Given the description of an element on the screen output the (x, y) to click on. 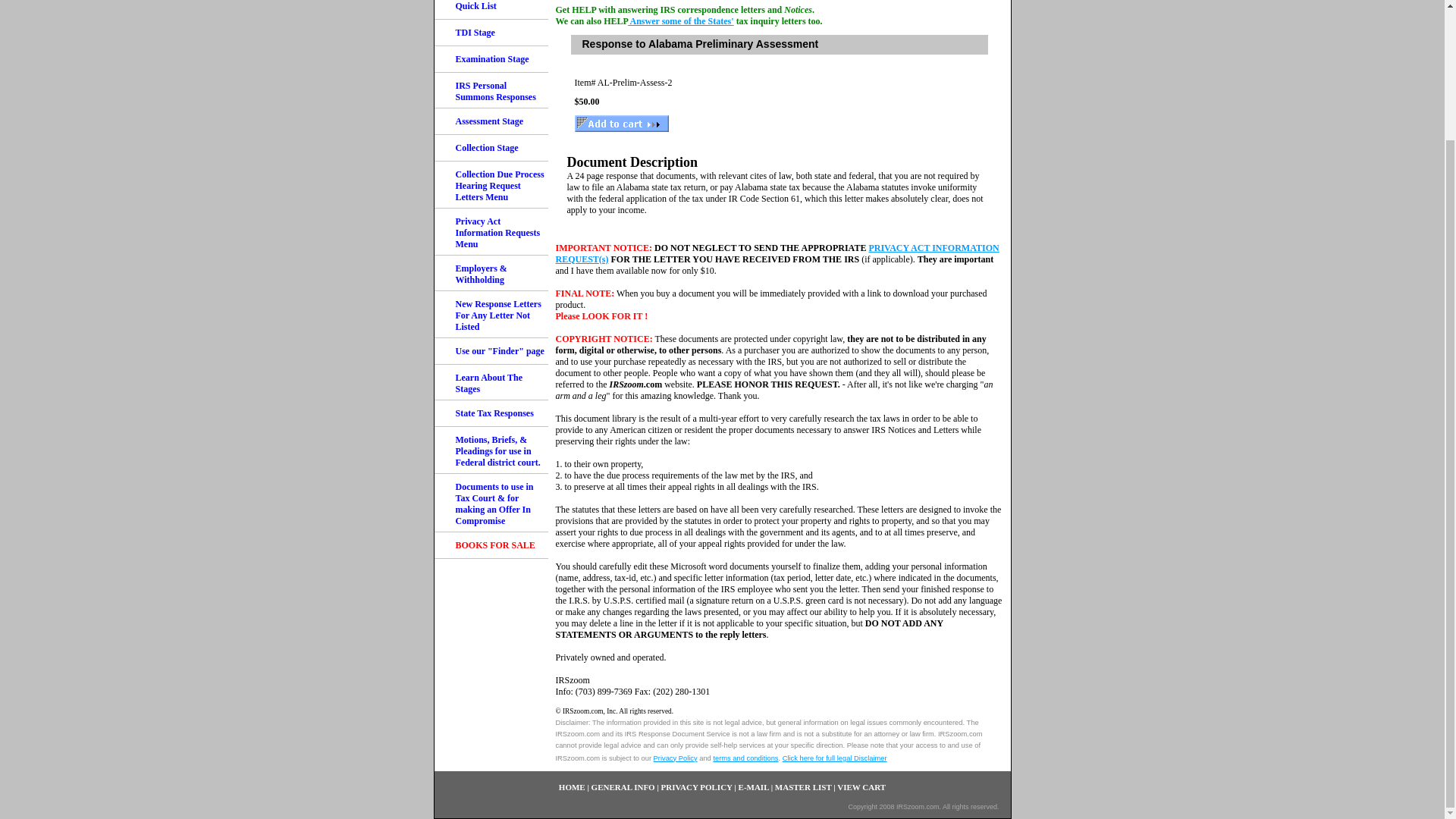
Assessment Stage (490, 121)
Add to cart (621, 123)
Learn About The Stages (490, 382)
HOME (572, 786)
E-MAIL (754, 786)
Use our "Finder" page (490, 351)
Answer some of the States' (680, 20)
VIEW CART (861, 786)
terms and conditions (745, 758)
Examination Stage (490, 58)
MASTER LIST (802, 786)
Quick List (490, 9)
Privacy Act Information Requests Menu (490, 231)
Collection Due Process Hearing Request Letters Menu (490, 184)
IRS Personal Summons Responses (490, 90)
